Given the description of an element on the screen output the (x, y) to click on. 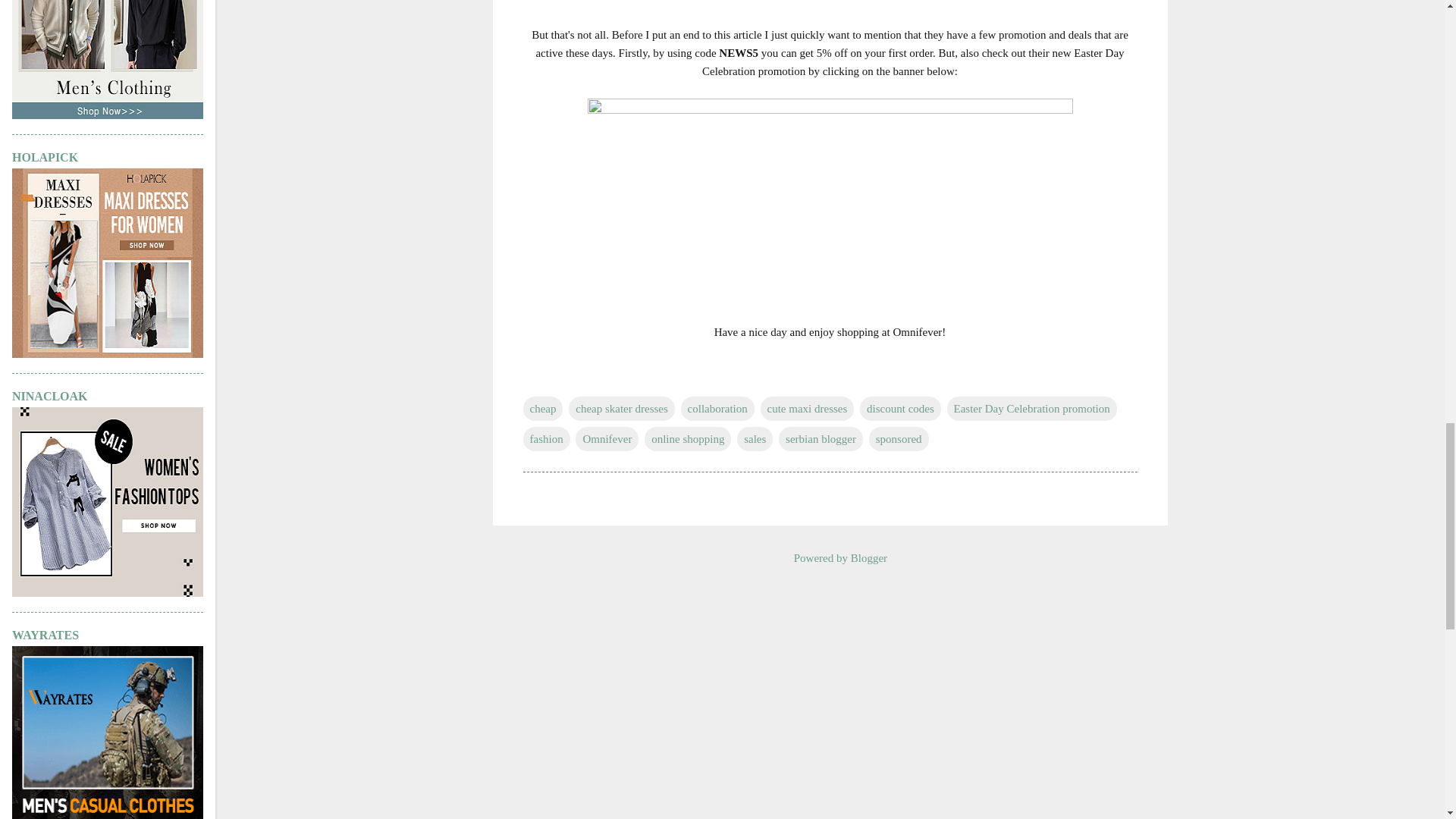
fashion (546, 437)
collaboration (717, 407)
cute maxi dresses (806, 407)
cheap skater dresses (622, 407)
sponsored (898, 437)
Easter Day Celebration promotion (1031, 407)
sales (754, 437)
discount codes (900, 407)
mens vintage clothing (107, 114)
Powered by Blogger (829, 558)
cheap (542, 407)
serbian blogger (820, 437)
online shopping (687, 437)
Omnifever (607, 437)
